Given the description of an element on the screen output the (x, y) to click on. 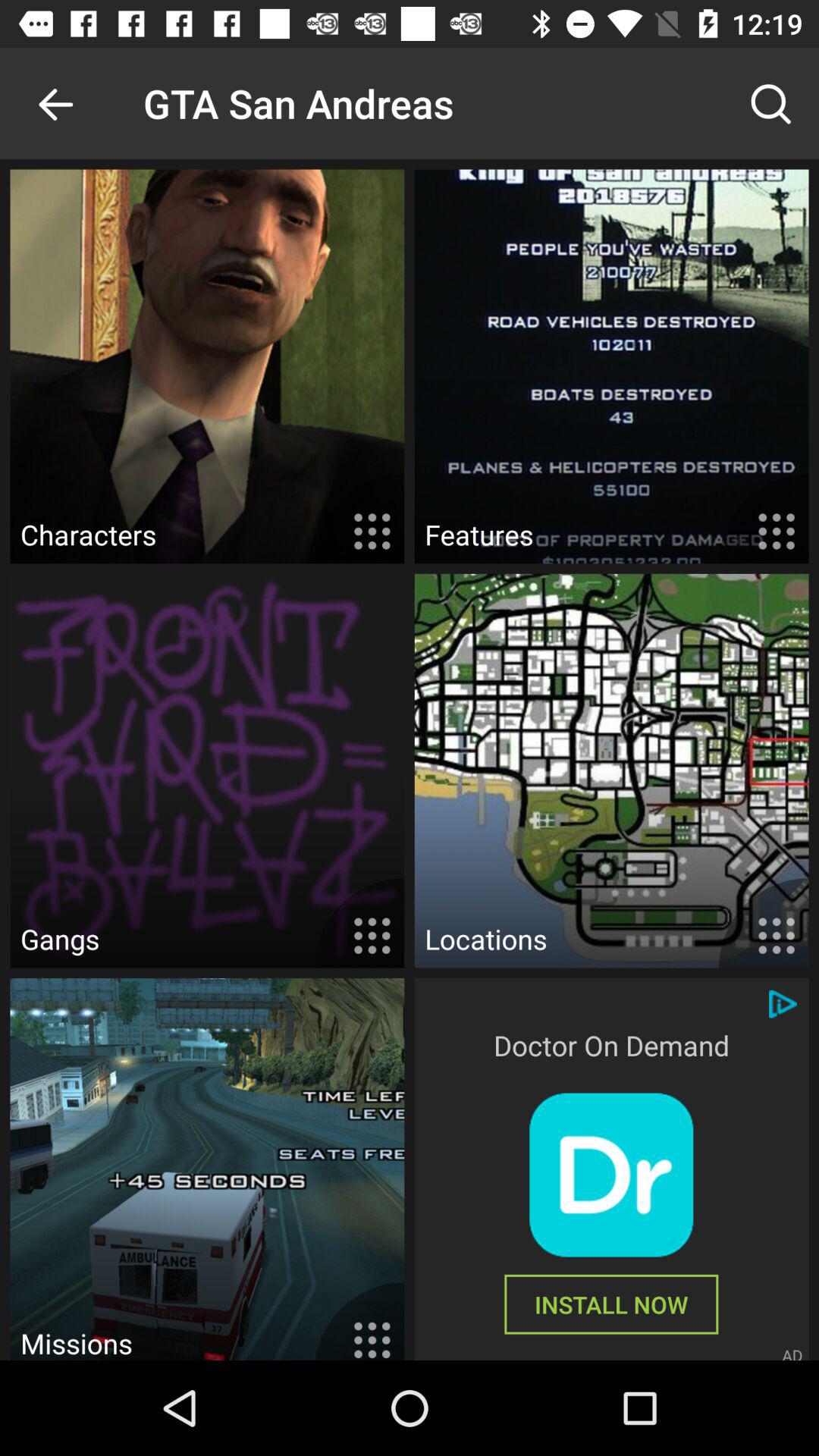
tap the install now (611, 1304)
